Given the description of an element on the screen output the (x, y) to click on. 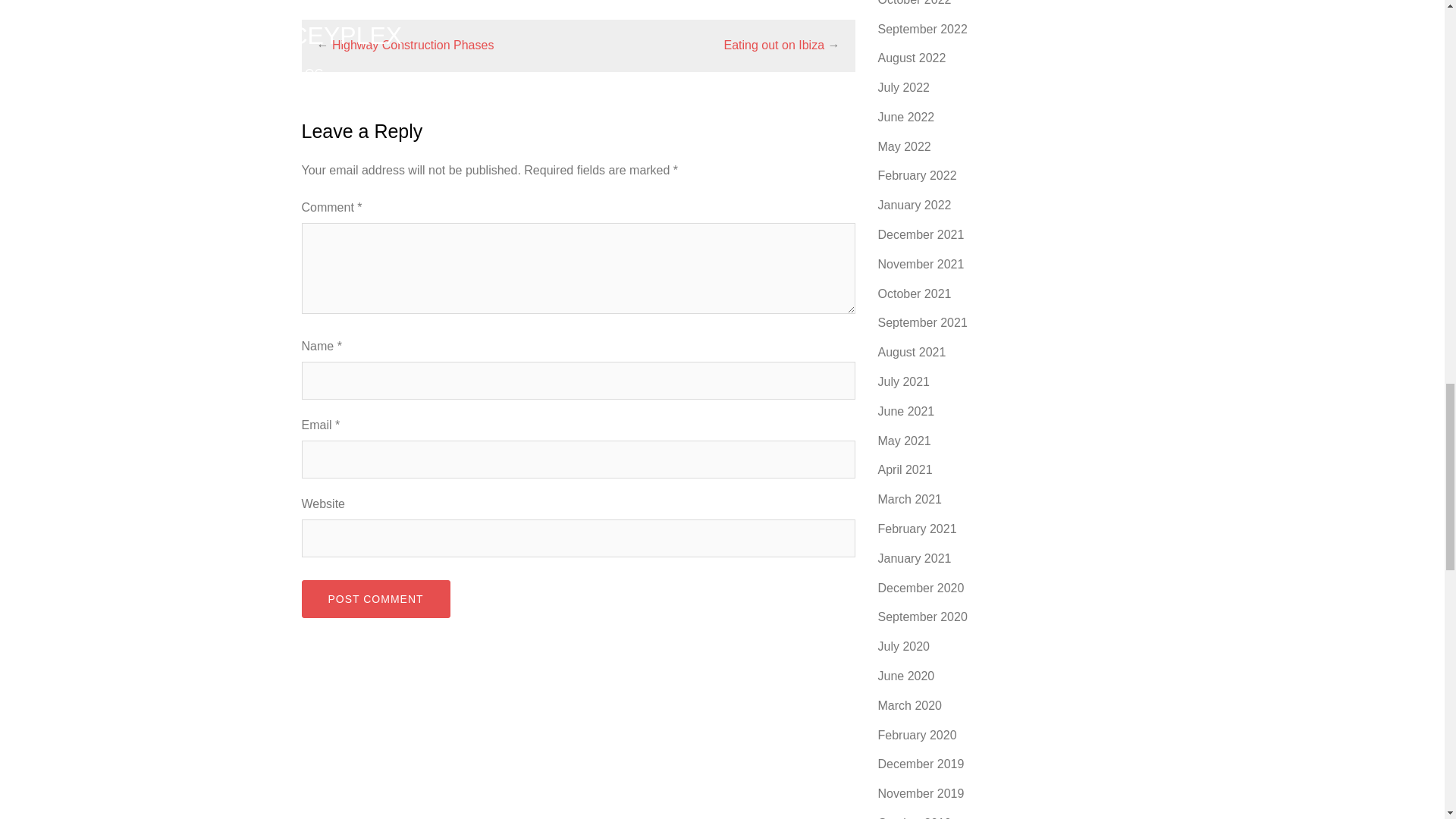
August 2022 (911, 57)
June 2022 (905, 116)
Eating out on Ibiza (773, 44)
October 2022 (914, 2)
July 2022 (903, 87)
September 2022 (922, 29)
Post Comment (375, 598)
Highway Construction Phases (412, 44)
Post Comment (375, 598)
